Given the description of an element on the screen output the (x, y) to click on. 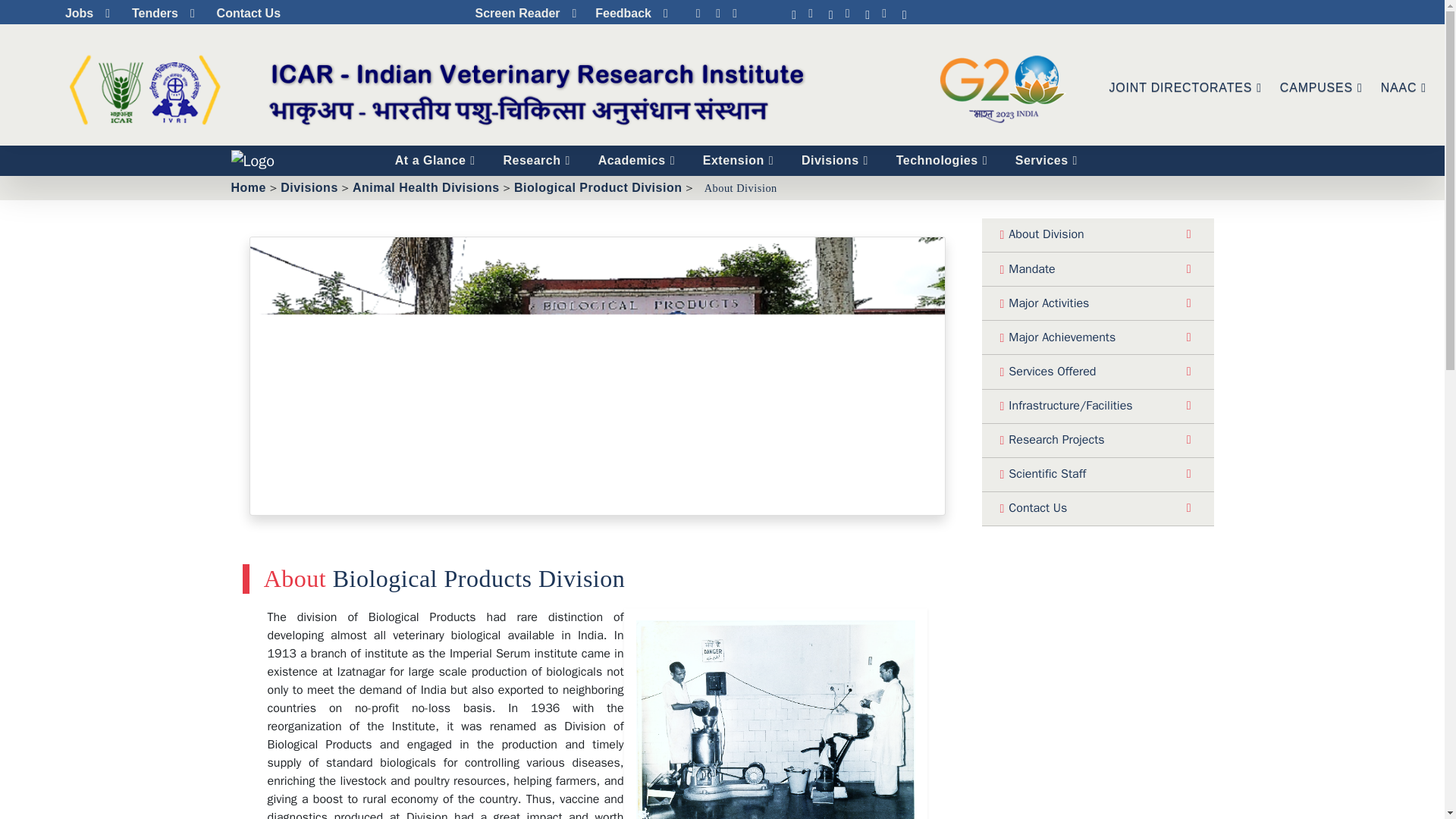
Screen Reader (523, 13)
Official Website: ICAR-IVRI Izatnagar (247, 187)
Know our Biological Product Division Divisions (597, 187)
Feedback (630, 13)
Skip to Content (590, 8)
Know our Divisions (309, 187)
NAAC (1403, 87)
JOINT DIRECTORATES (1185, 87)
Know our Animal Health Divisions (425, 187)
CAMPUSES (1321, 87)
